Given the description of an element on the screen output the (x, y) to click on. 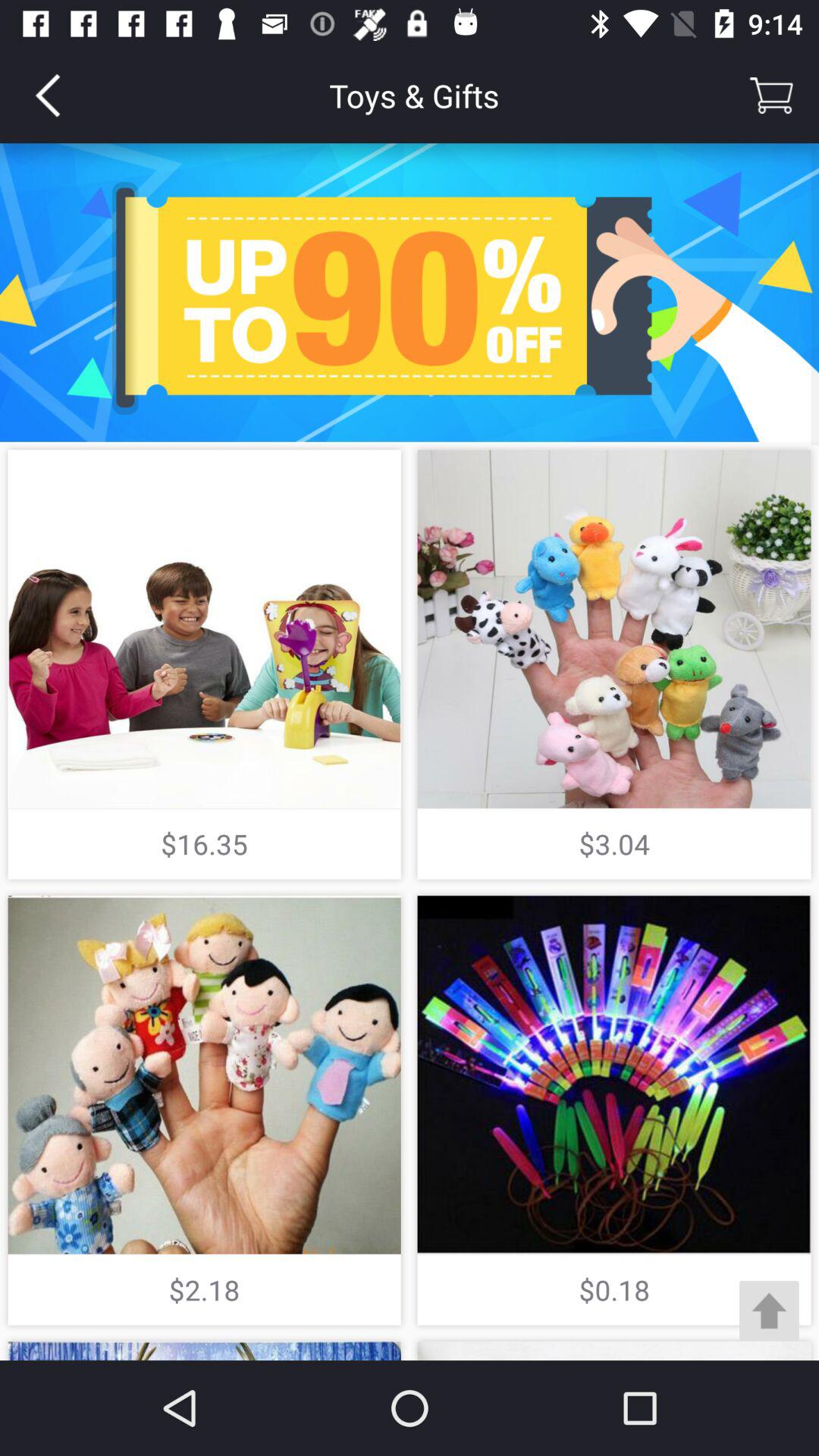
select the item to the right of the toys & gifts (771, 95)
